Given the description of an element on the screen output the (x, y) to click on. 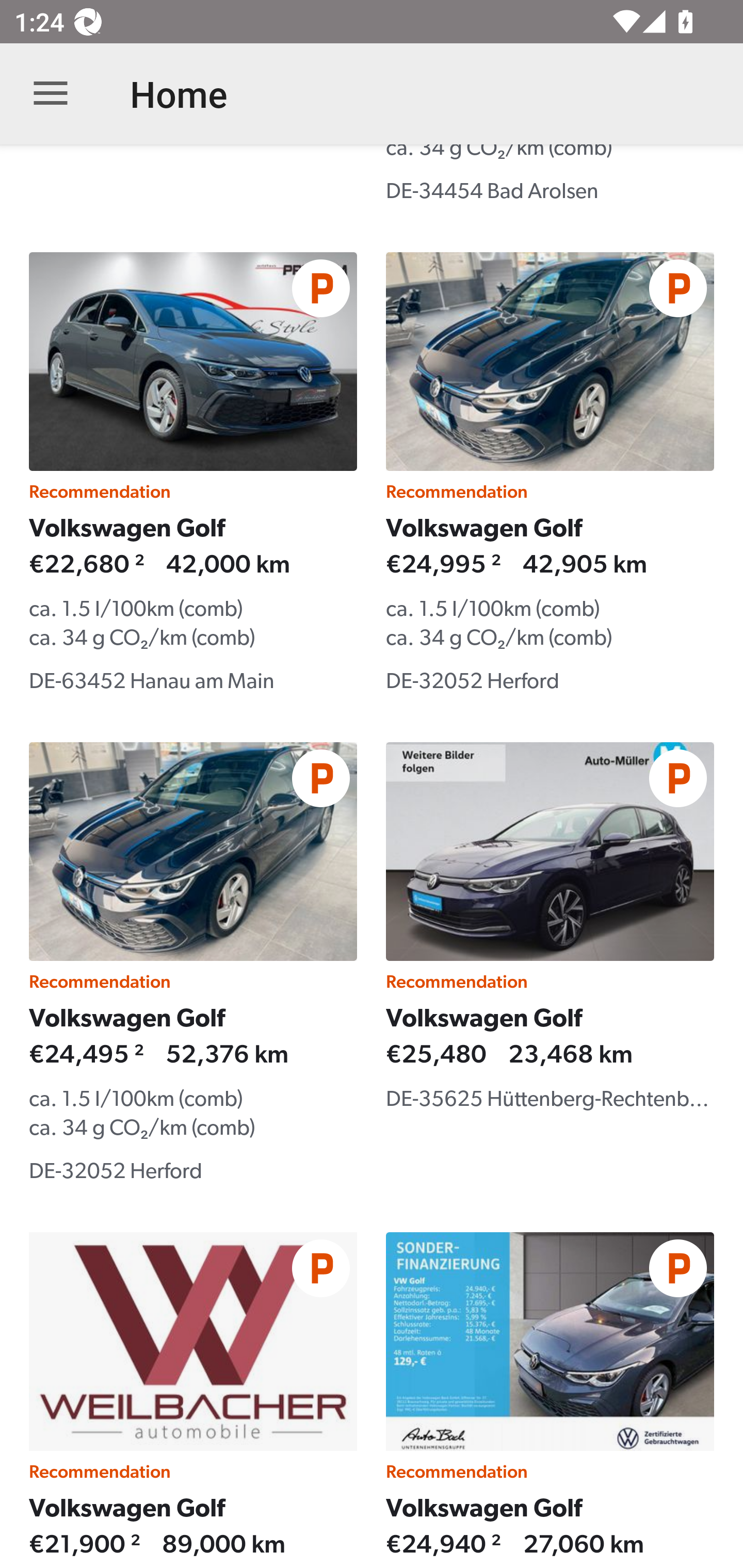
Open navigation bar (50, 93)
Recommendation Volkswagen Golf €21,900 ² 89,000 km (192, 1400)
Recommendation Volkswagen Golf €24,940 ² 27,060 km (549, 1400)
